Given the description of an element on the screen output the (x, y) to click on. 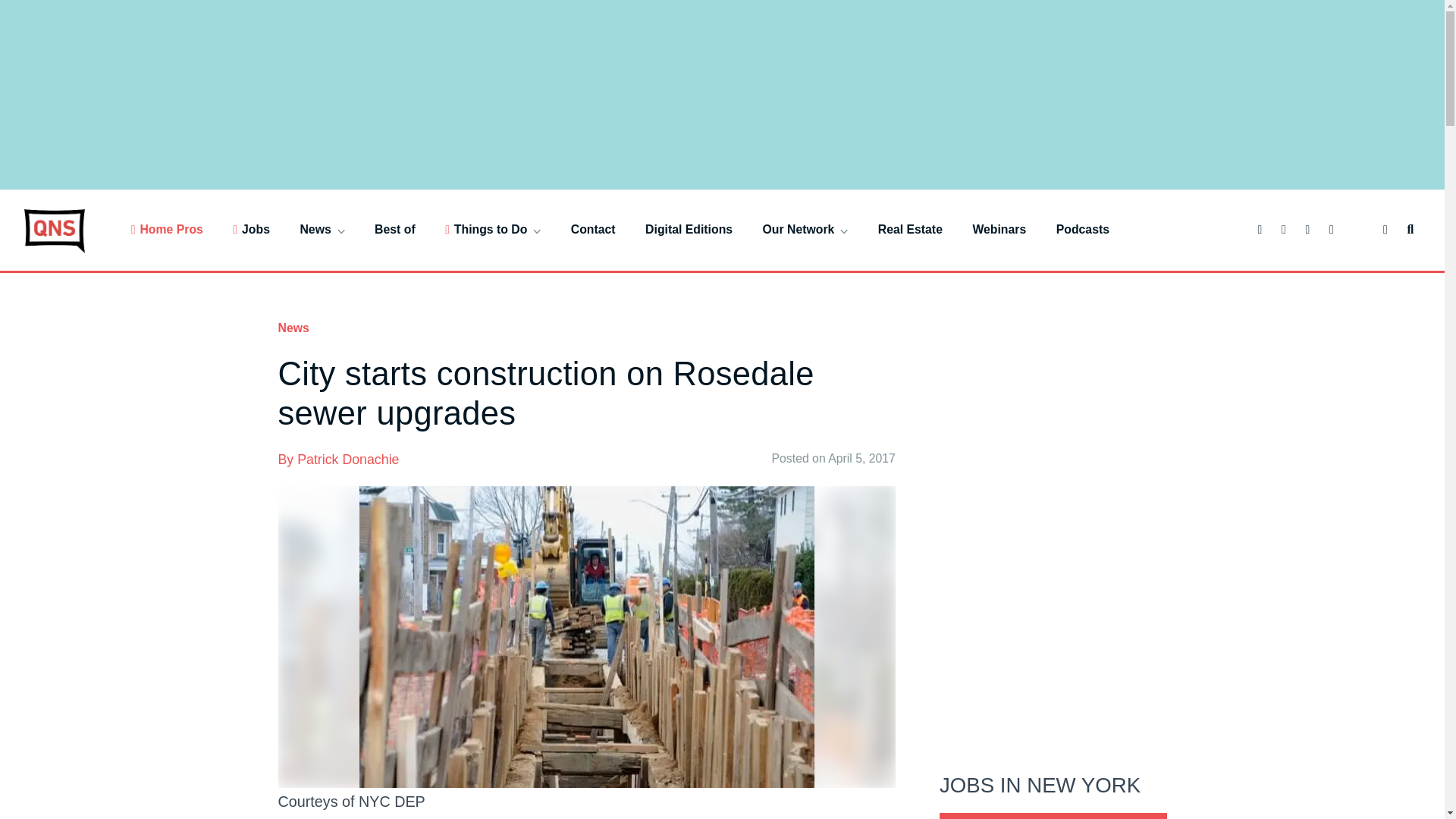
Real Estate (909, 228)
News (321, 228)
Things to Do (492, 228)
Jobs (250, 228)
Best of (394, 228)
Contact (592, 228)
Home Pros (167, 228)
Our Network (805, 228)
Digital Editions (688, 228)
Webinars (999, 228)
Podcasts (1083, 228)
